Given the description of an element on the screen output the (x, y) to click on. 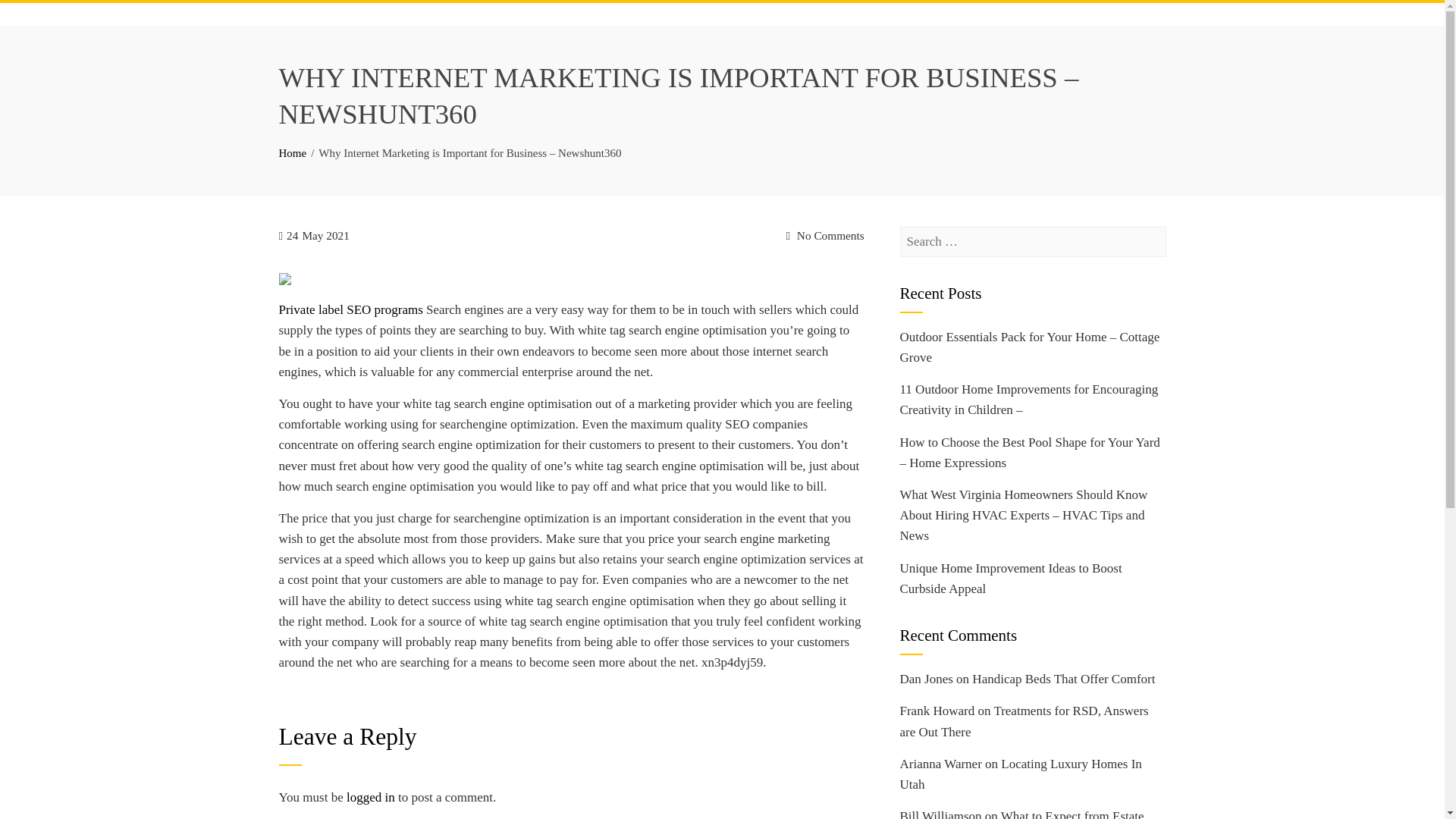
Treatments for RSD, Answers are Out There (1023, 720)
Home (293, 152)
What to Expect from Estate Planning Attorneys (1020, 814)
Locating Luxury Homes In Utah (1020, 773)
Unique Home Improvement Ideas to Boost Curbside Appeal (1010, 578)
Arianna Warner (940, 763)
logged in (370, 797)
Frank Howard (936, 710)
Search (32, 15)
Private label SEO programs (351, 309)
